Given the description of an element on the screen output the (x, y) to click on. 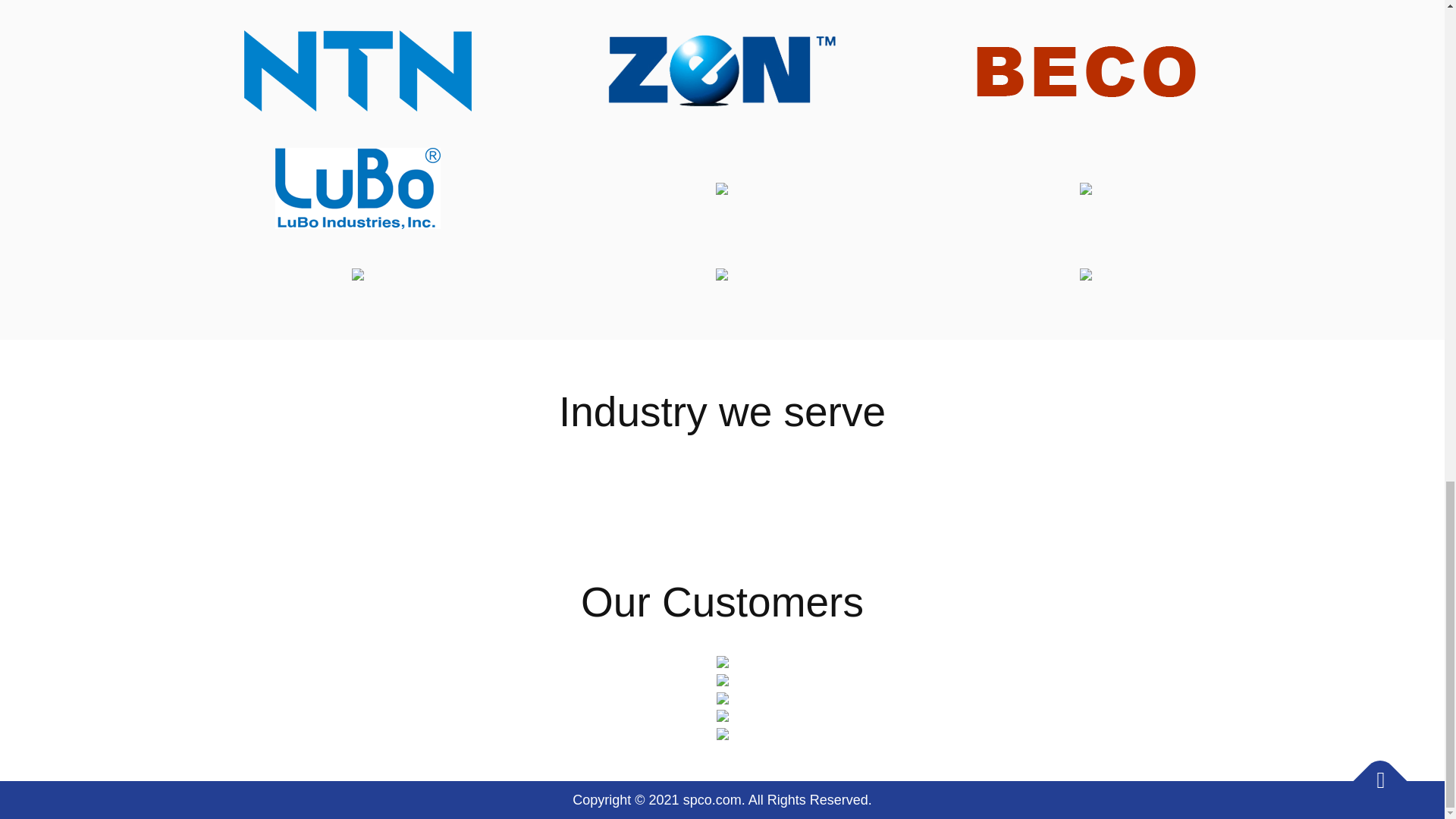
Back To Top (1372, 772)
spco.com (711, 799)
